Given the description of an element on the screen output the (x, y) to click on. 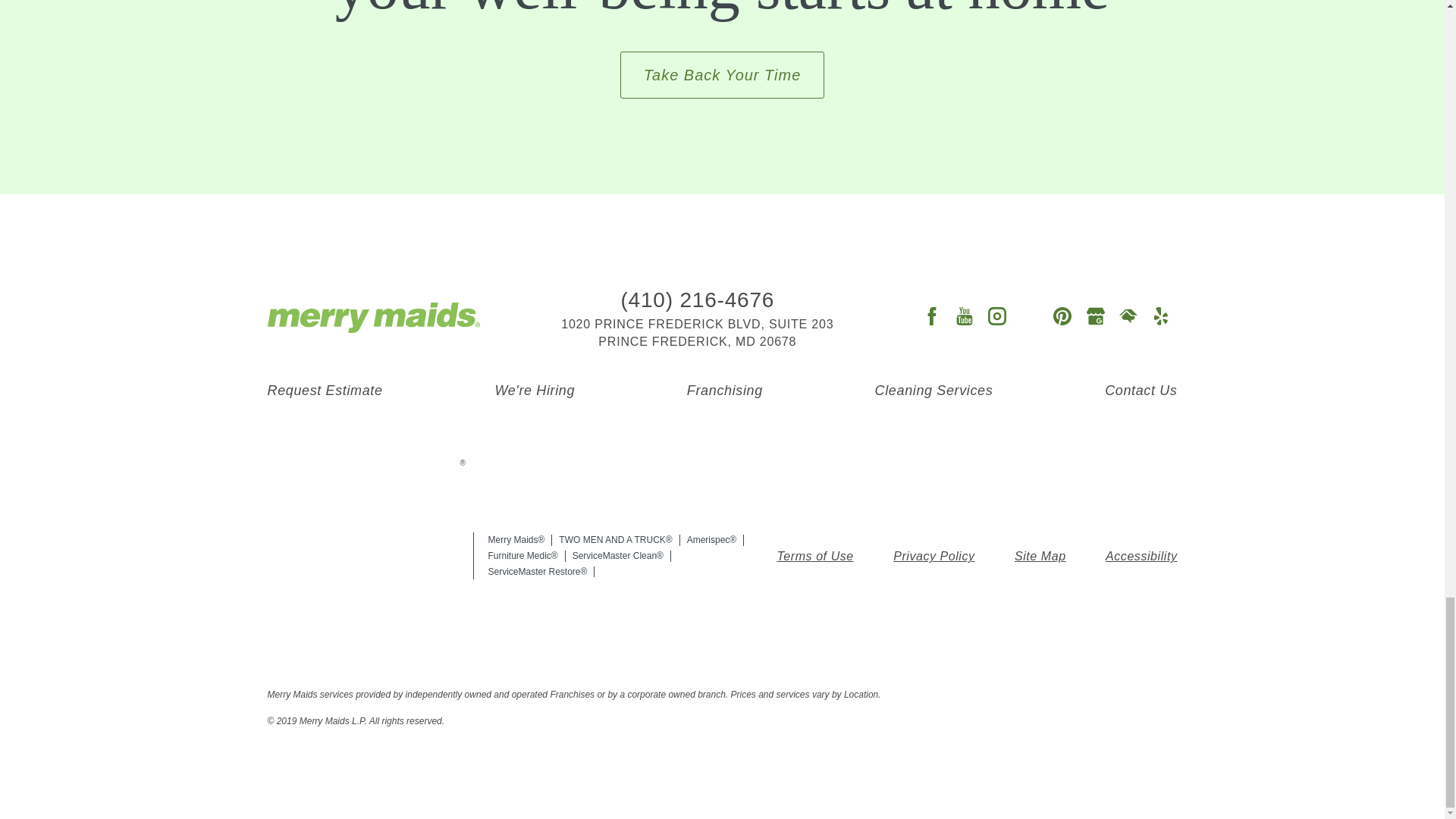
Merry Maids (372, 317)
youtube-3 (963, 317)
instagram (996, 317)
Google My Business (1095, 317)
facebook (931, 317)
twitter (1029, 317)
yelp (1160, 317)
pinterest (1062, 317)
HomeAdvisor (1128, 317)
